Given the description of an element on the screen output the (x, y) to click on. 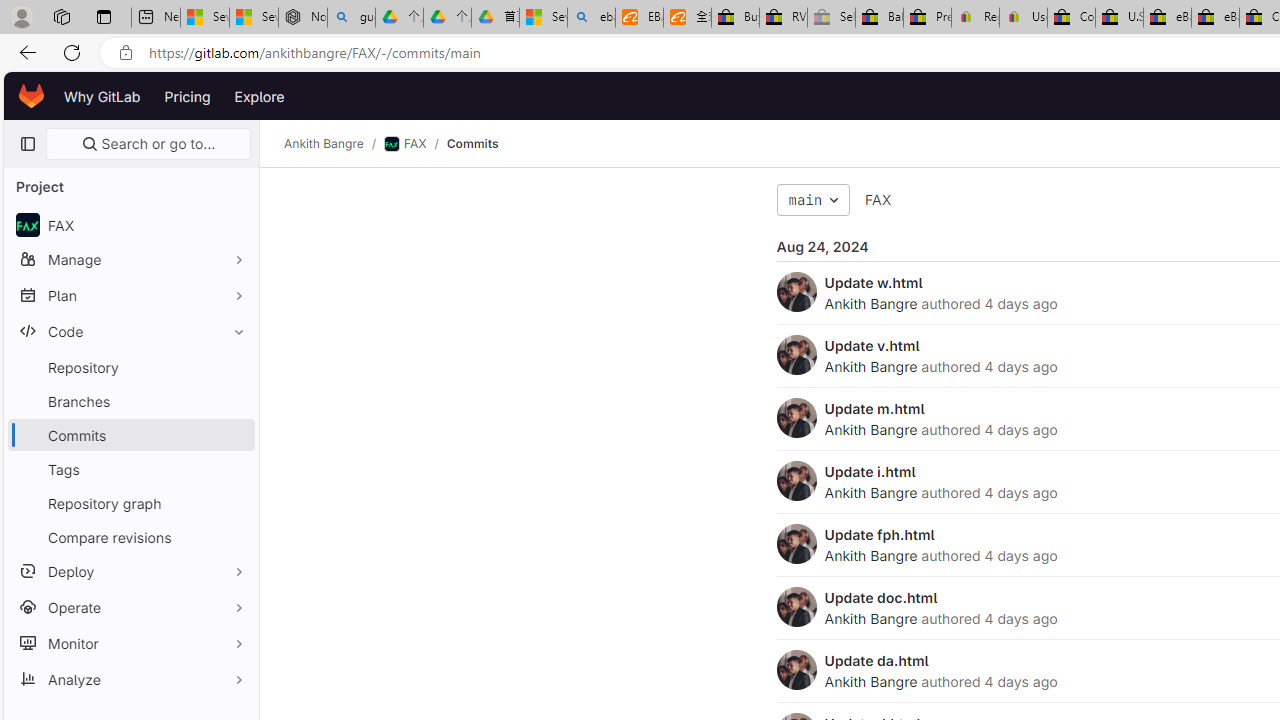
Pricing (187, 95)
Explore (259, 95)
Deploy (130, 570)
Code (130, 331)
Ankith Bangre (870, 681)
Plan (130, 295)
Tags (130, 468)
FAX/ (414, 143)
Branches (130, 400)
Analyze (130, 678)
Homepage (31, 95)
User Privacy Notice | eBay (1023, 17)
avatar FAX (130, 224)
Manage (130, 259)
